Given the description of an element on the screen output the (x, y) to click on. 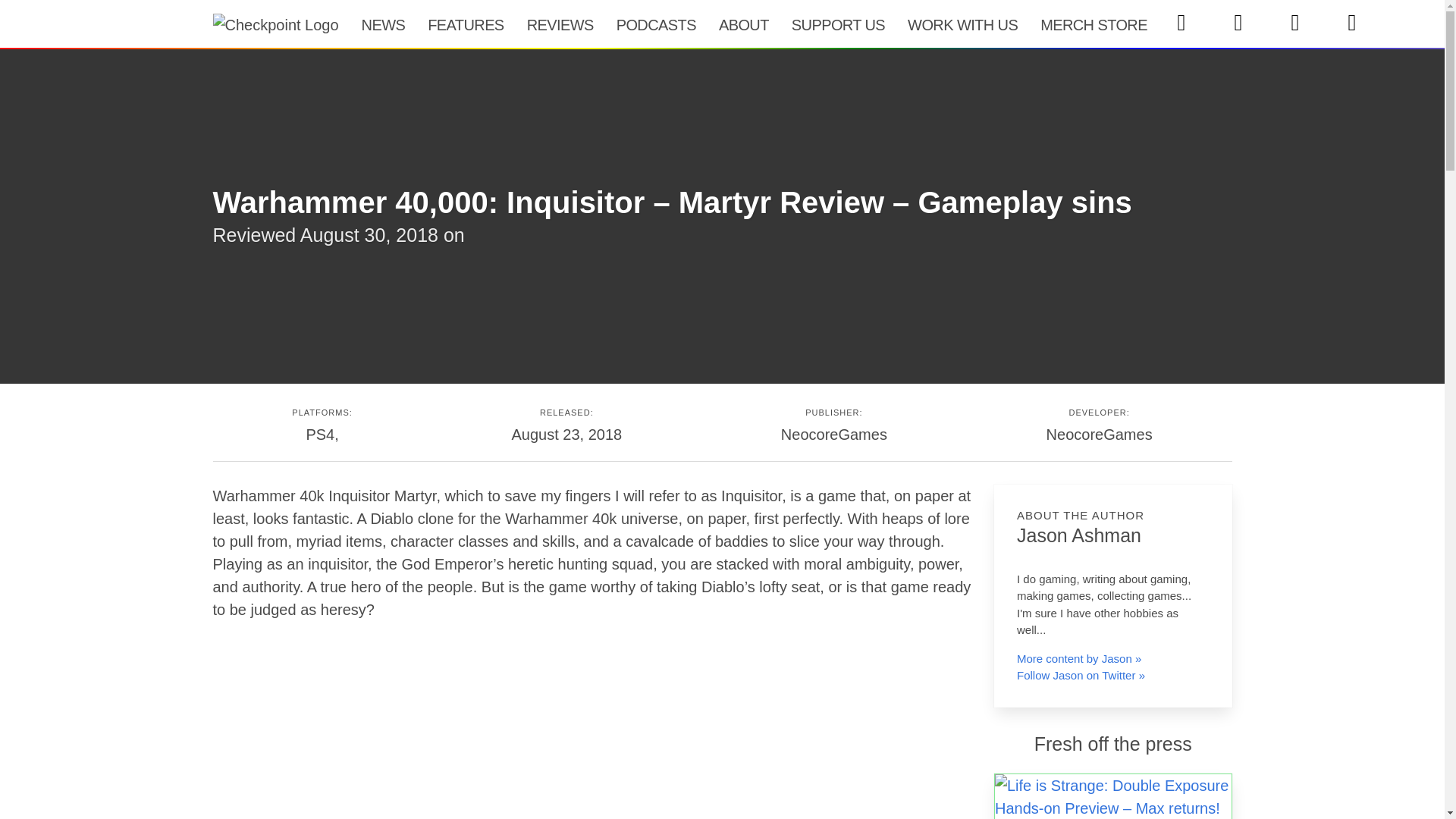
REVIEWS (560, 24)
FEATURES (465, 24)
NEWS (383, 24)
MERCH STORE (1093, 24)
SUPPORT US (838, 24)
PODCASTS (656, 24)
WORK WITH US (962, 24)
ABOUT (743, 24)
